Given the description of an element on the screen output the (x, y) to click on. 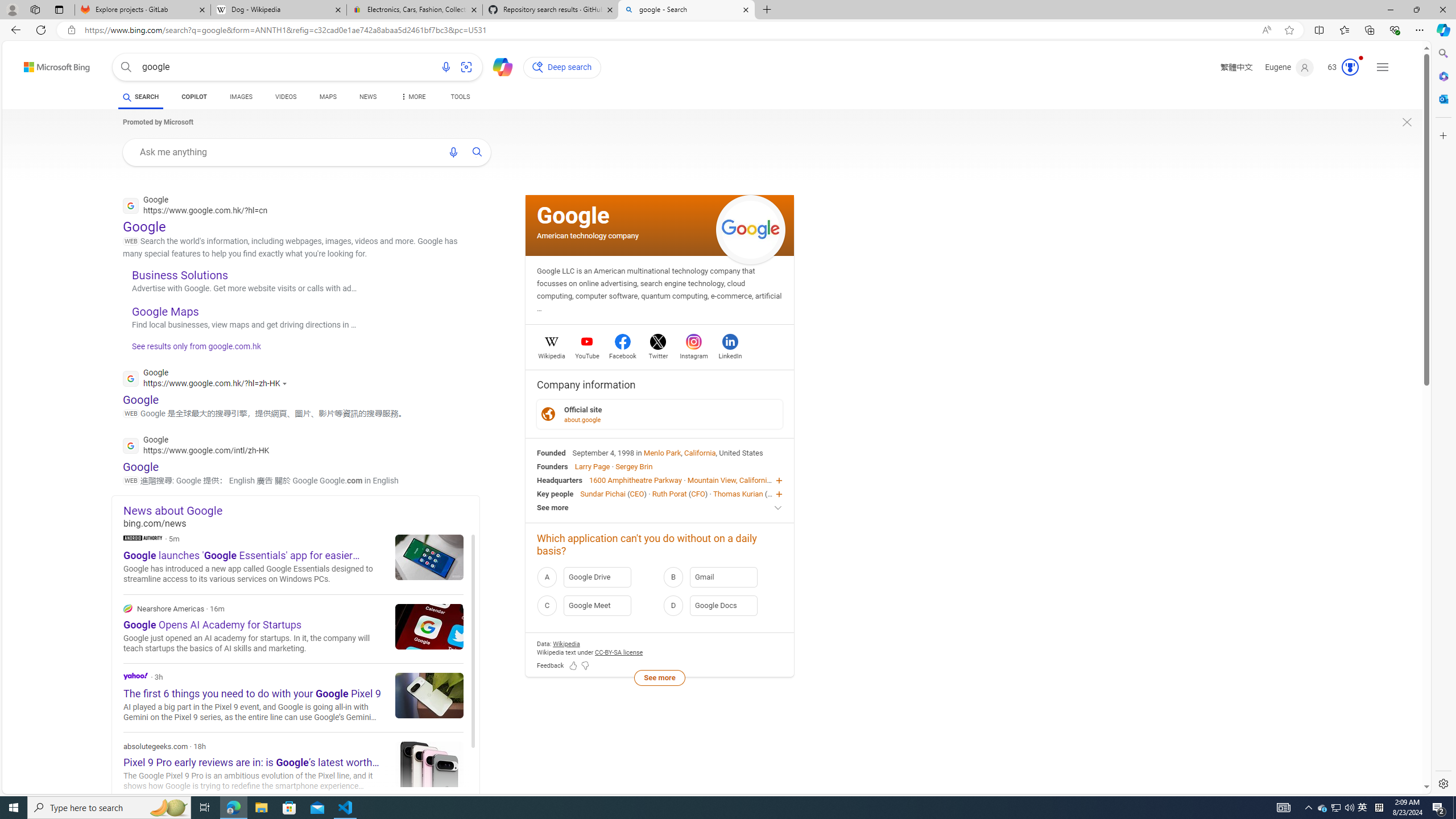
Eugene (1289, 67)
B Gmail (722, 576)
Settings and quick links (1383, 67)
Search using voice (452, 151)
Search using an image (465, 66)
Ruth Porat (669, 492)
MORE (412, 98)
Thomas Kurian (736, 492)
Facebook (622, 354)
Search button (126, 66)
